Given the description of an element on the screen output the (x, y) to click on. 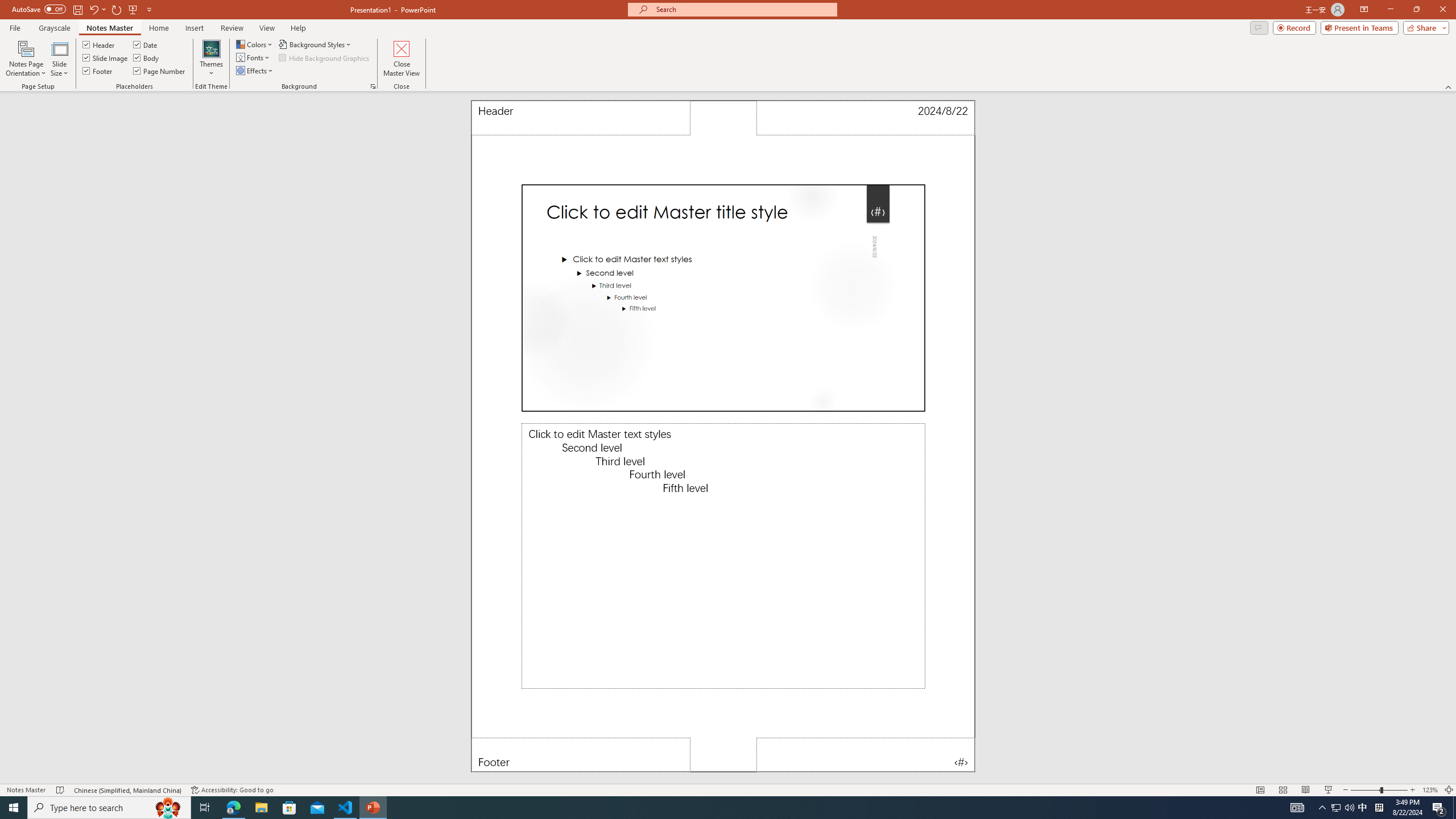
Zoom 123% (1430, 790)
